Given the description of an element on the screen output the (x, y) to click on. 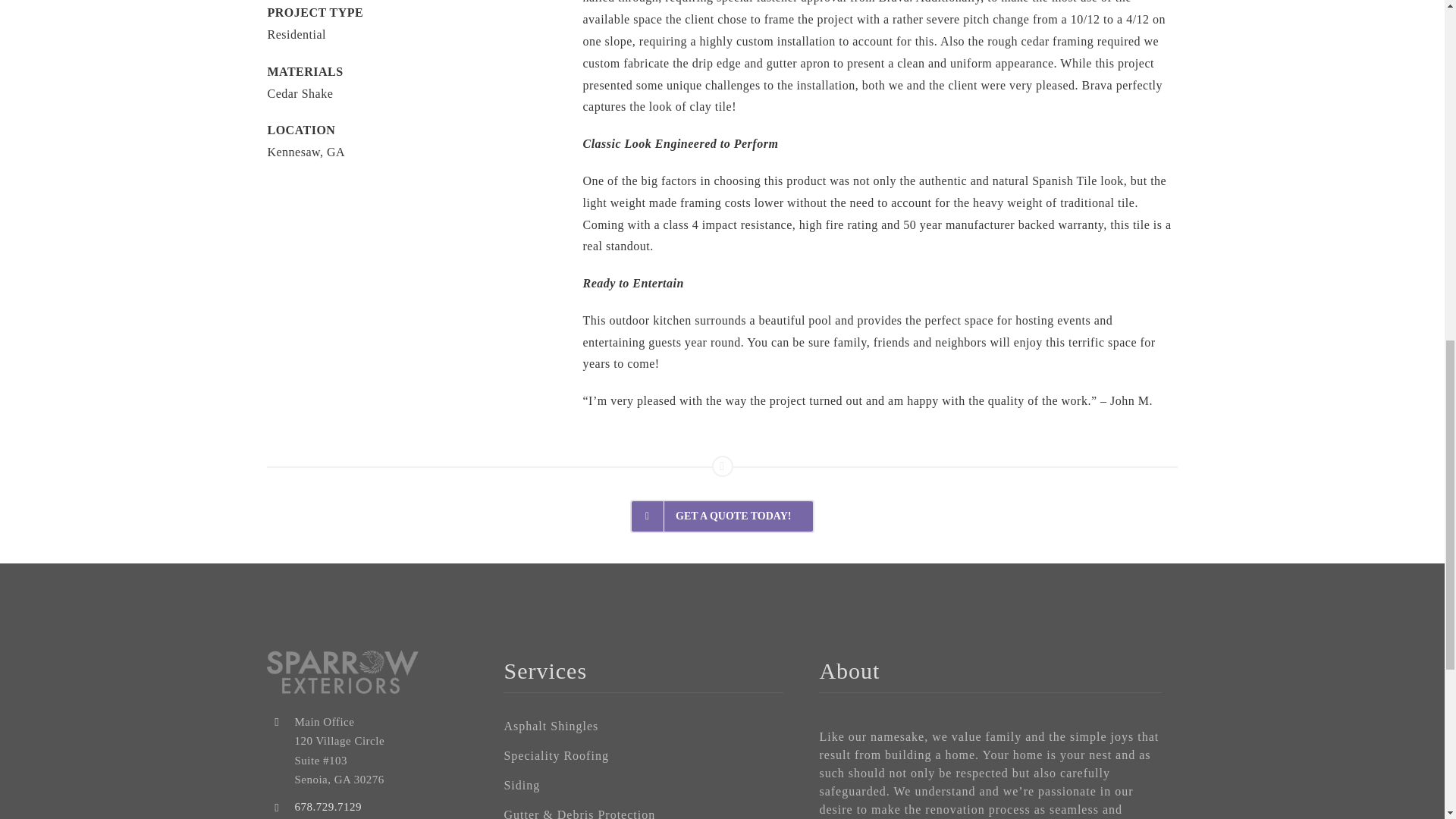
Speciality Roofing (643, 756)
678.729.7129 (327, 806)
Siding (643, 785)
GET A QUOTE TODAY! (722, 516)
sparrow-logo-bw (342, 671)
GET A QUOTE TODAY! (721, 495)
Asphalt Shingles (643, 726)
